Given the description of an element on the screen output the (x, y) to click on. 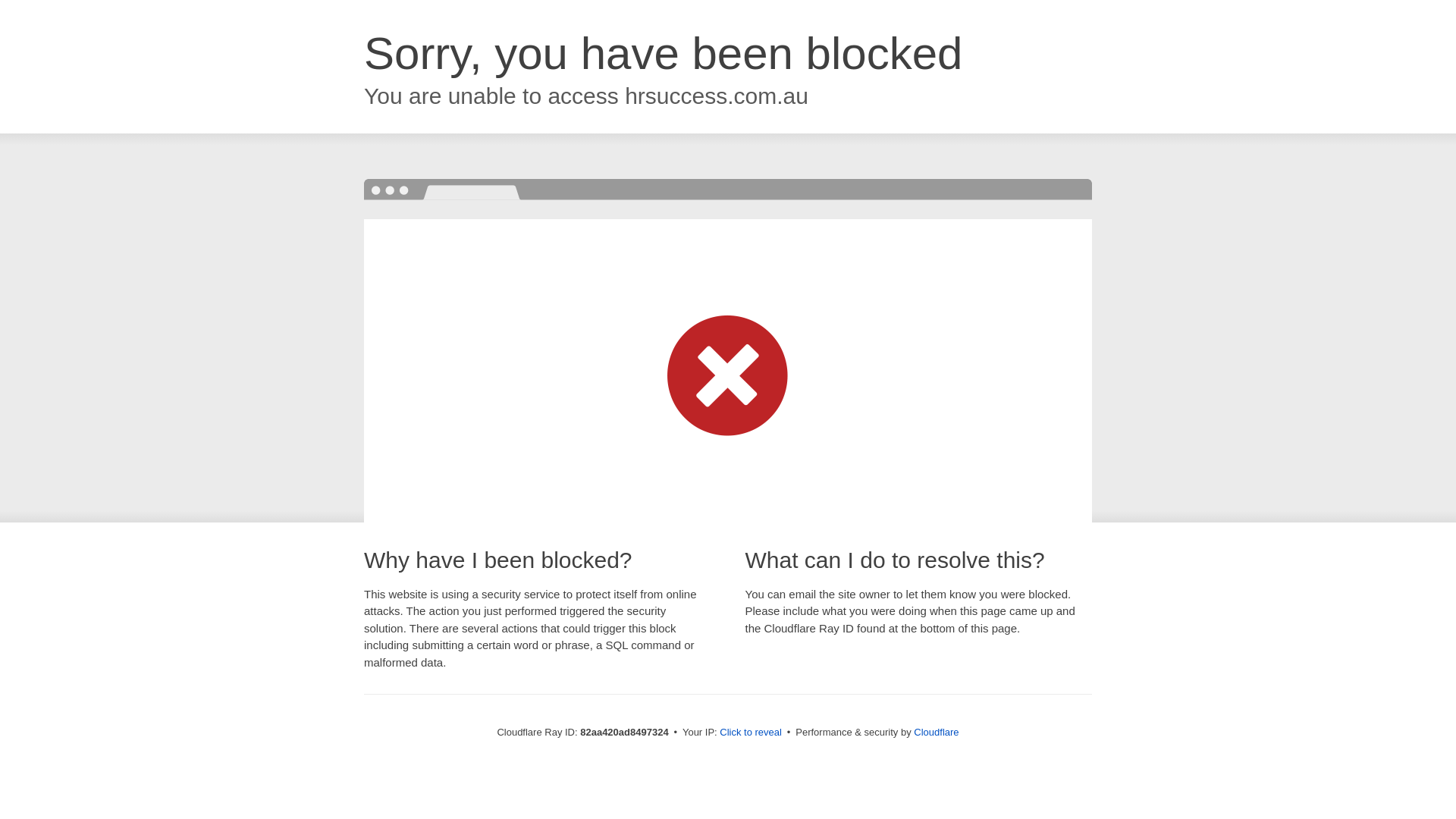
Cloudflare Element type: text (935, 731)
Click to reveal Element type: text (750, 732)
